Given the description of an element on the screen output the (x, y) to click on. 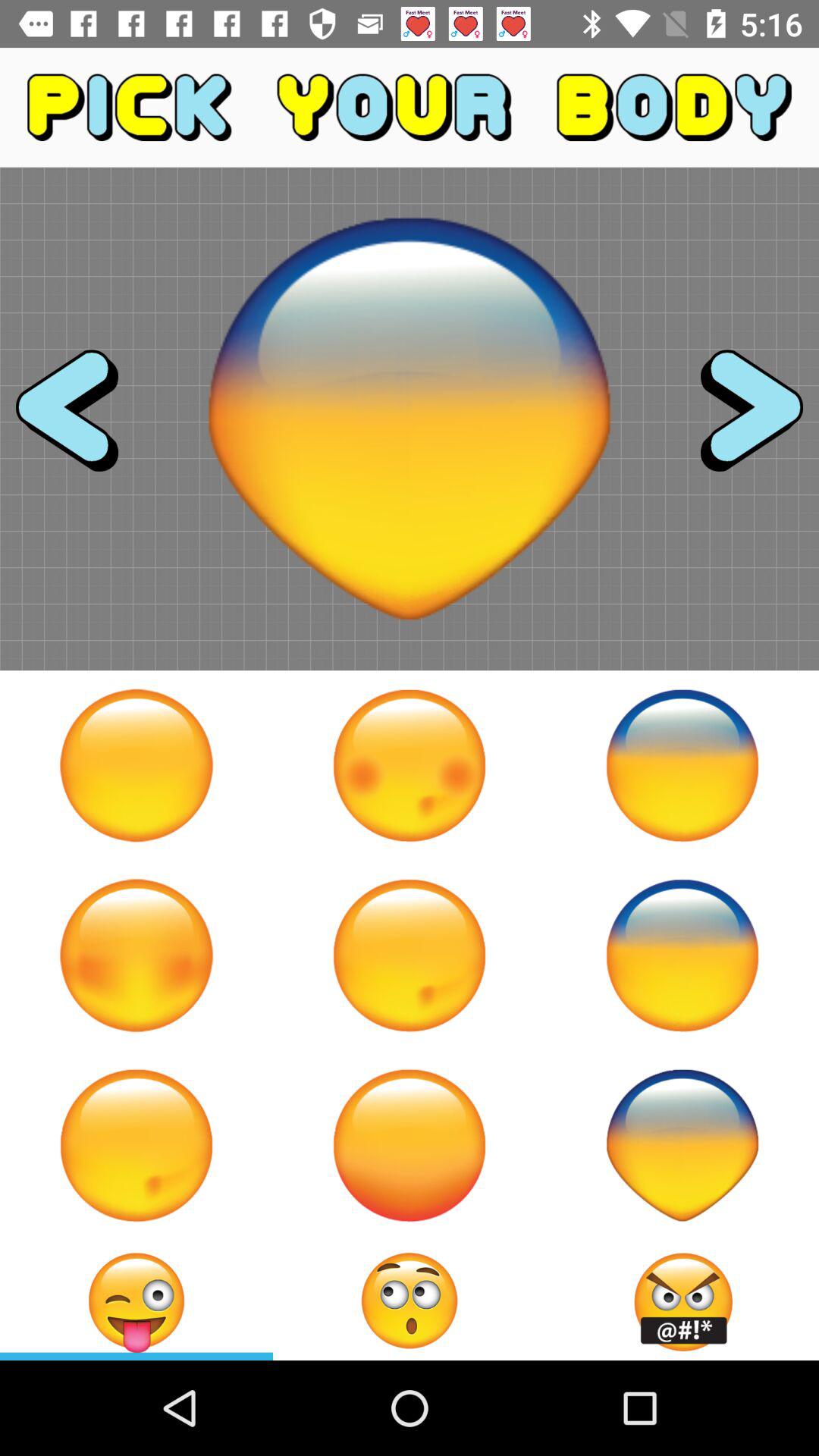
chose cheek color (136, 955)
